Given the description of an element on the screen output the (x, y) to click on. 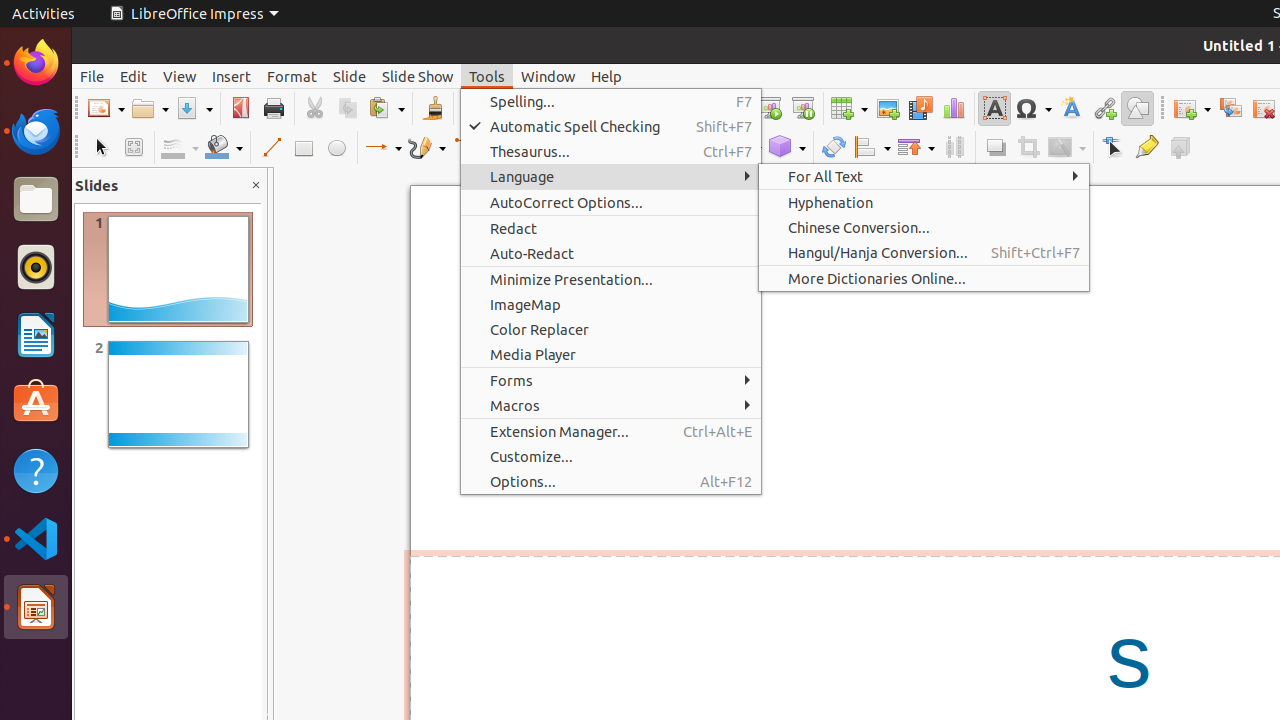
Slide Show Element type: menu (417, 76)
Window Element type: menu (548, 76)
Color Replacer Element type: check-menu-item (611, 329)
Edit Element type: menu (133, 76)
For All Text Element type: menu (924, 176)
